Given the description of an element on the screen output the (x, y) to click on. 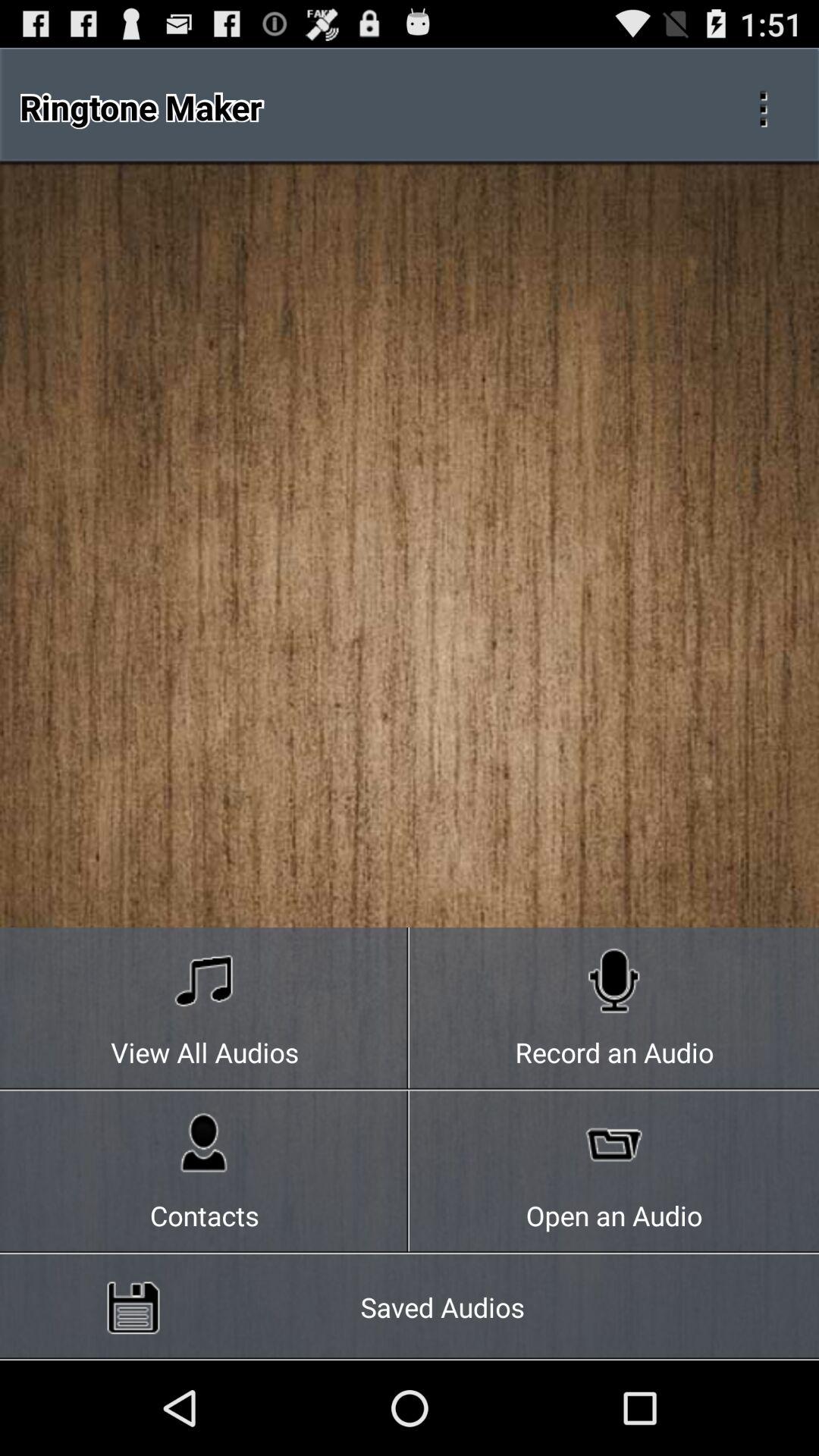
select item next to the record an audio button (204, 1172)
